Given the description of an element on the screen output the (x, y) to click on. 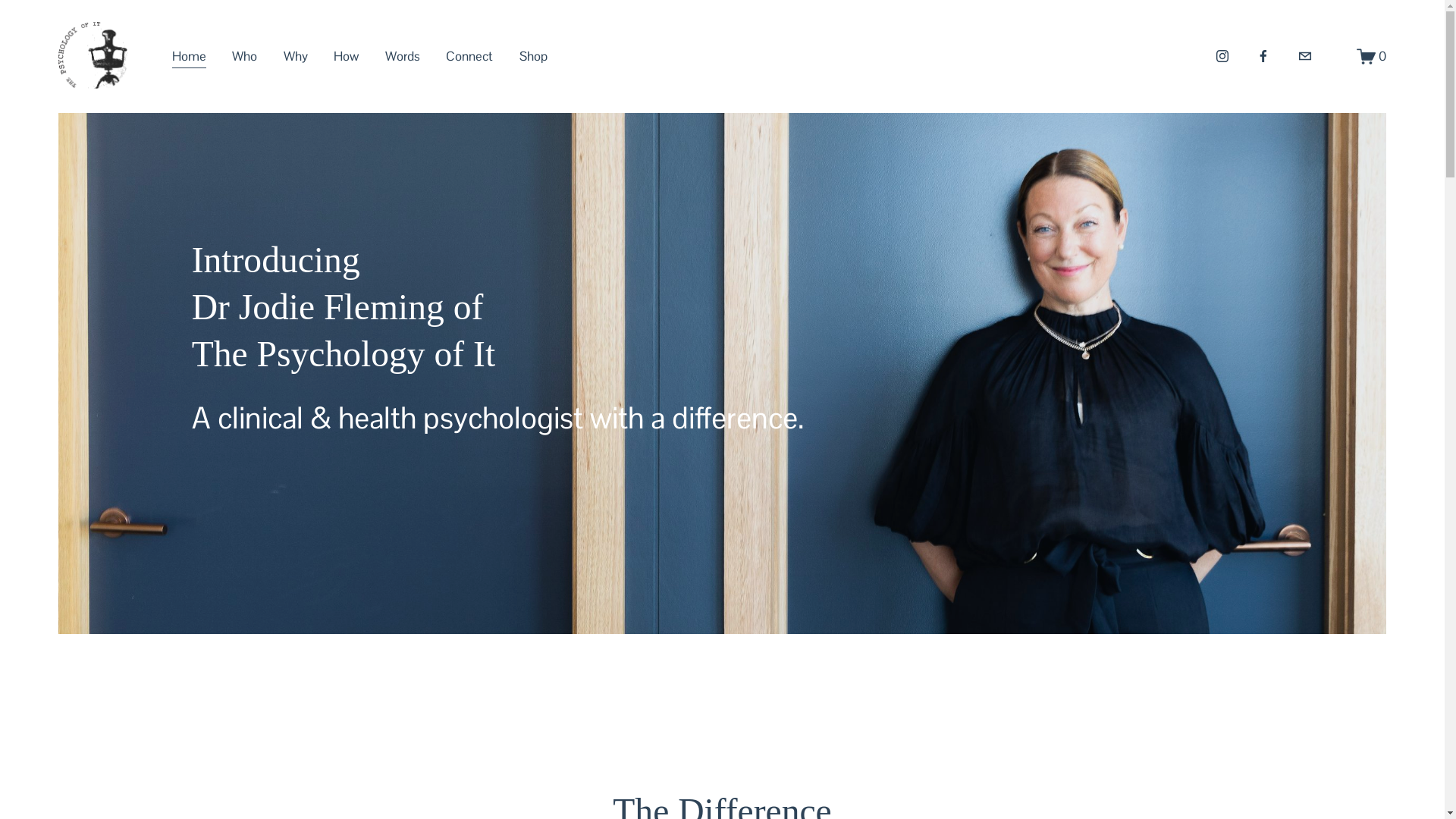
Why Element type: text (295, 56)
Home Element type: text (189, 56)
Shop Element type: text (533, 56)
0 Element type: text (1371, 56)
Connect Element type: text (468, 56)
Words Element type: text (402, 56)
Who Element type: text (244, 56)
How Element type: text (345, 56)
